Given the description of an element on the screen output the (x, y) to click on. 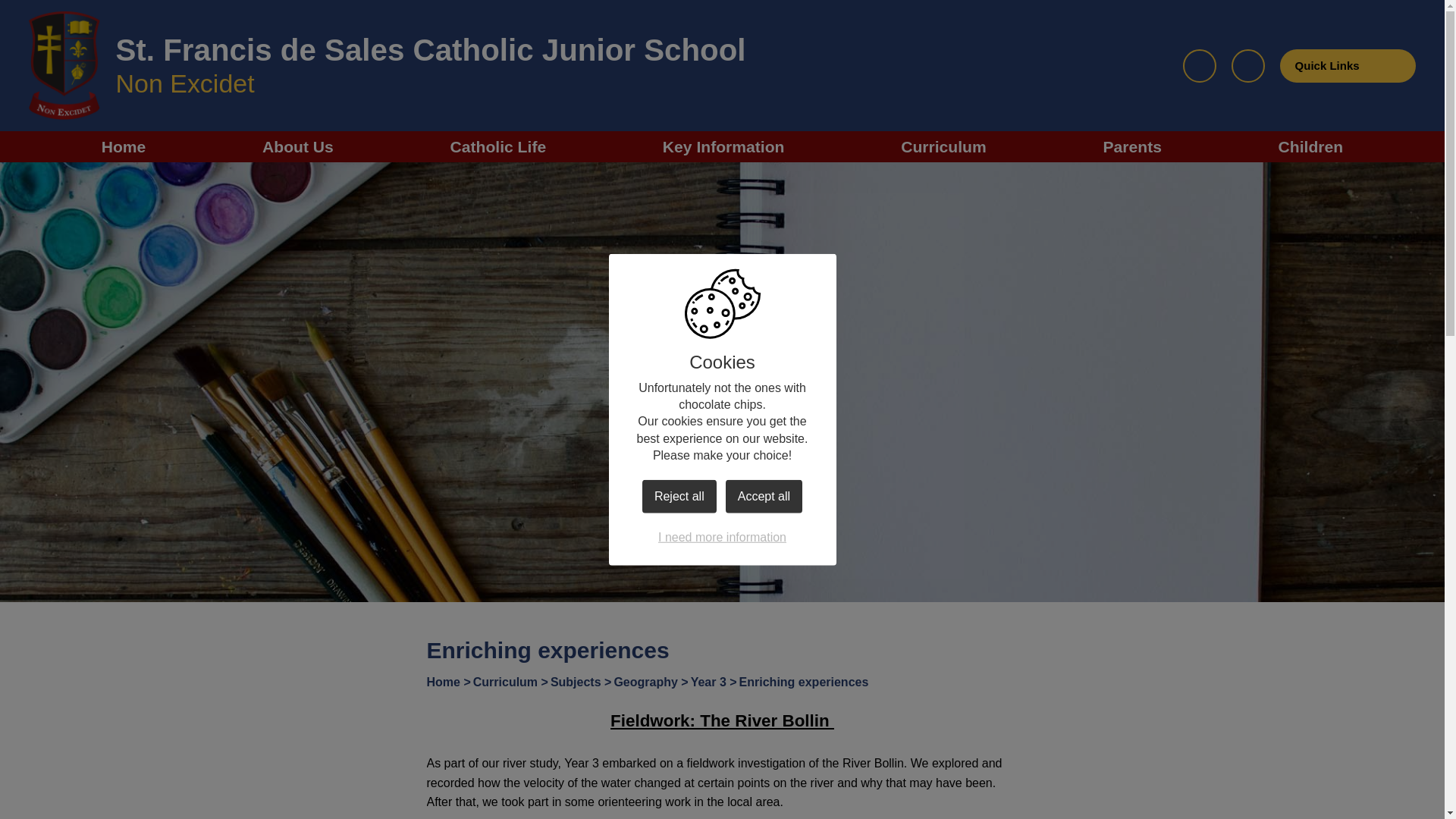
About Us (297, 146)
Quick Links (1347, 65)
Home (124, 146)
Key Information (723, 146)
Catholic Life (497, 146)
